Given the description of an element on the screen output the (x, y) to click on. 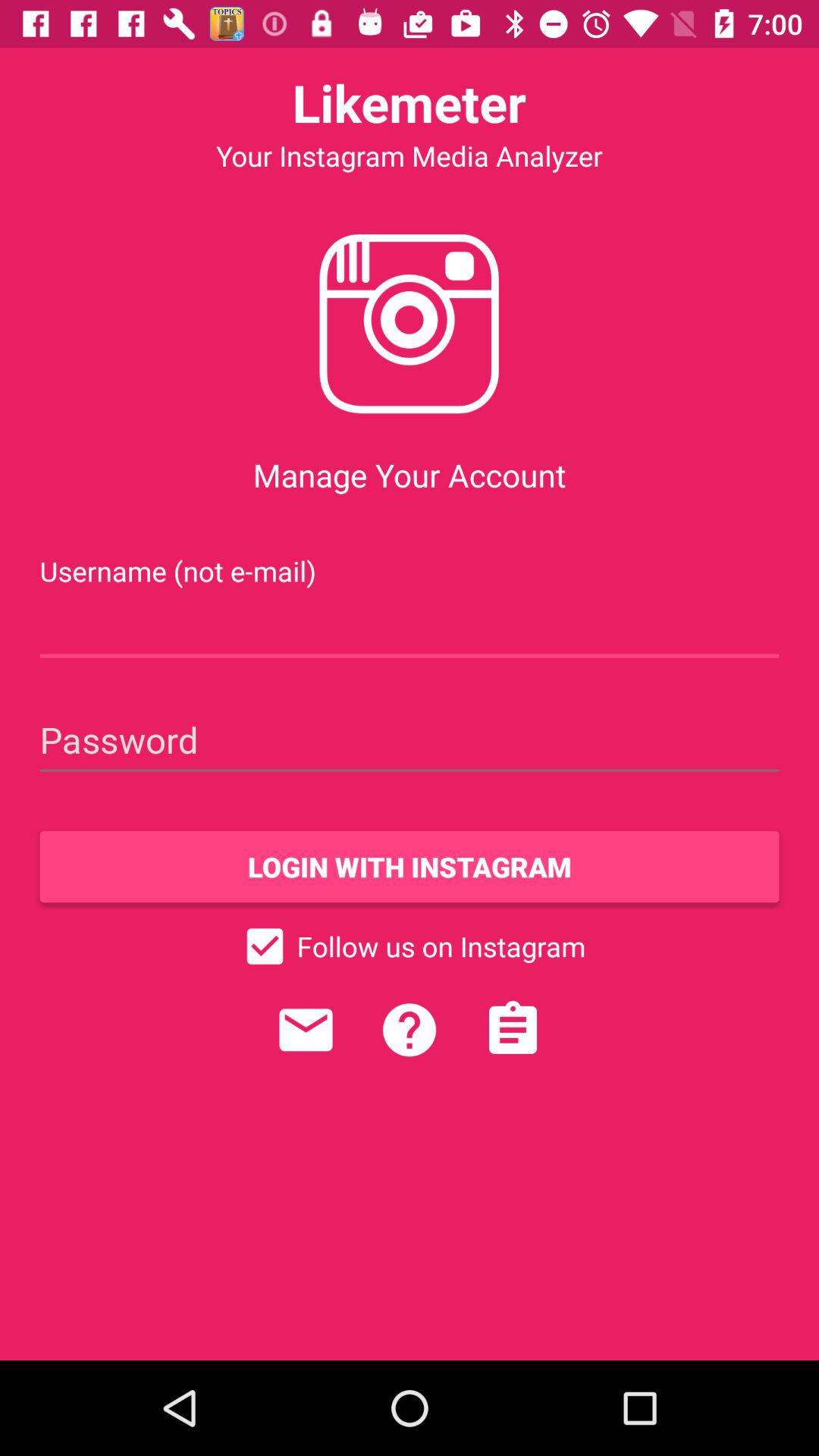
contact customer service (305, 1029)
